Given the description of an element on the screen output the (x, y) to click on. 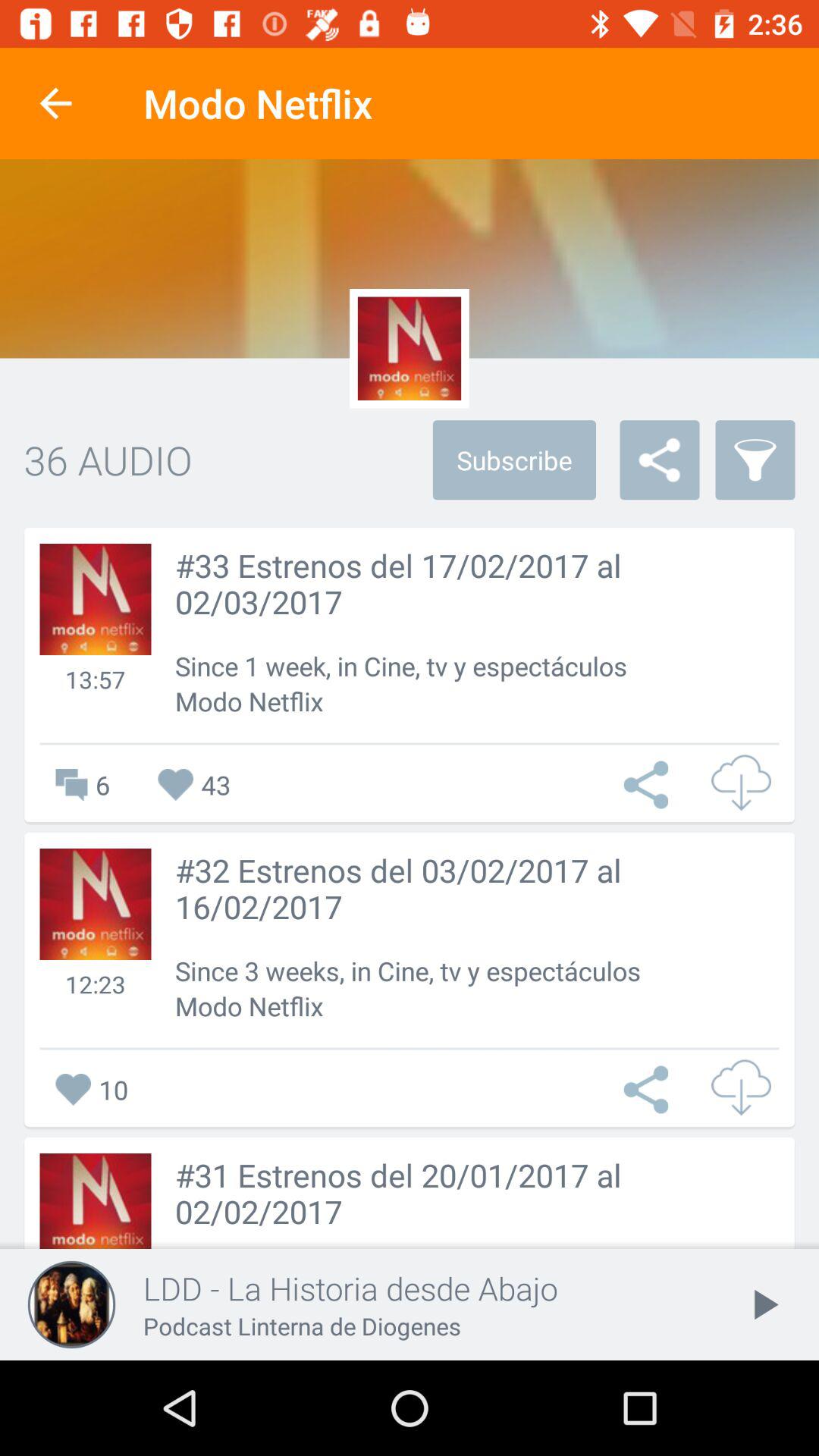
share this (649, 784)
